Given the description of an element on the screen output the (x, y) to click on. 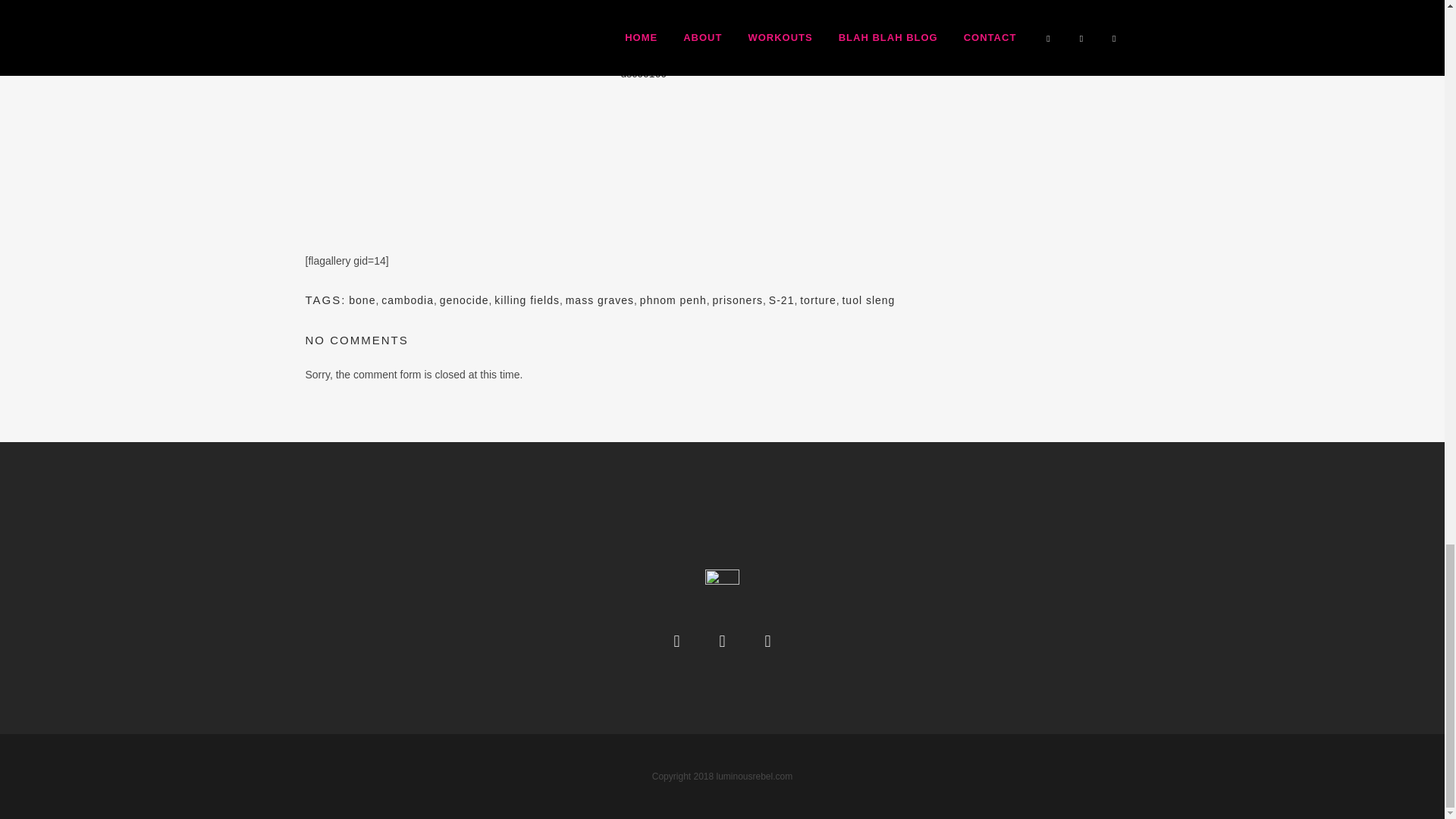
prisoners (736, 300)
phnom penh (673, 300)
torture (817, 300)
killing fields (527, 300)
cambodia (407, 300)
bone (362, 300)
genocide (464, 300)
S-21 (781, 300)
tuol sleng (868, 300)
mass graves (599, 300)
